Given the description of an element on the screen output the (x, y) to click on. 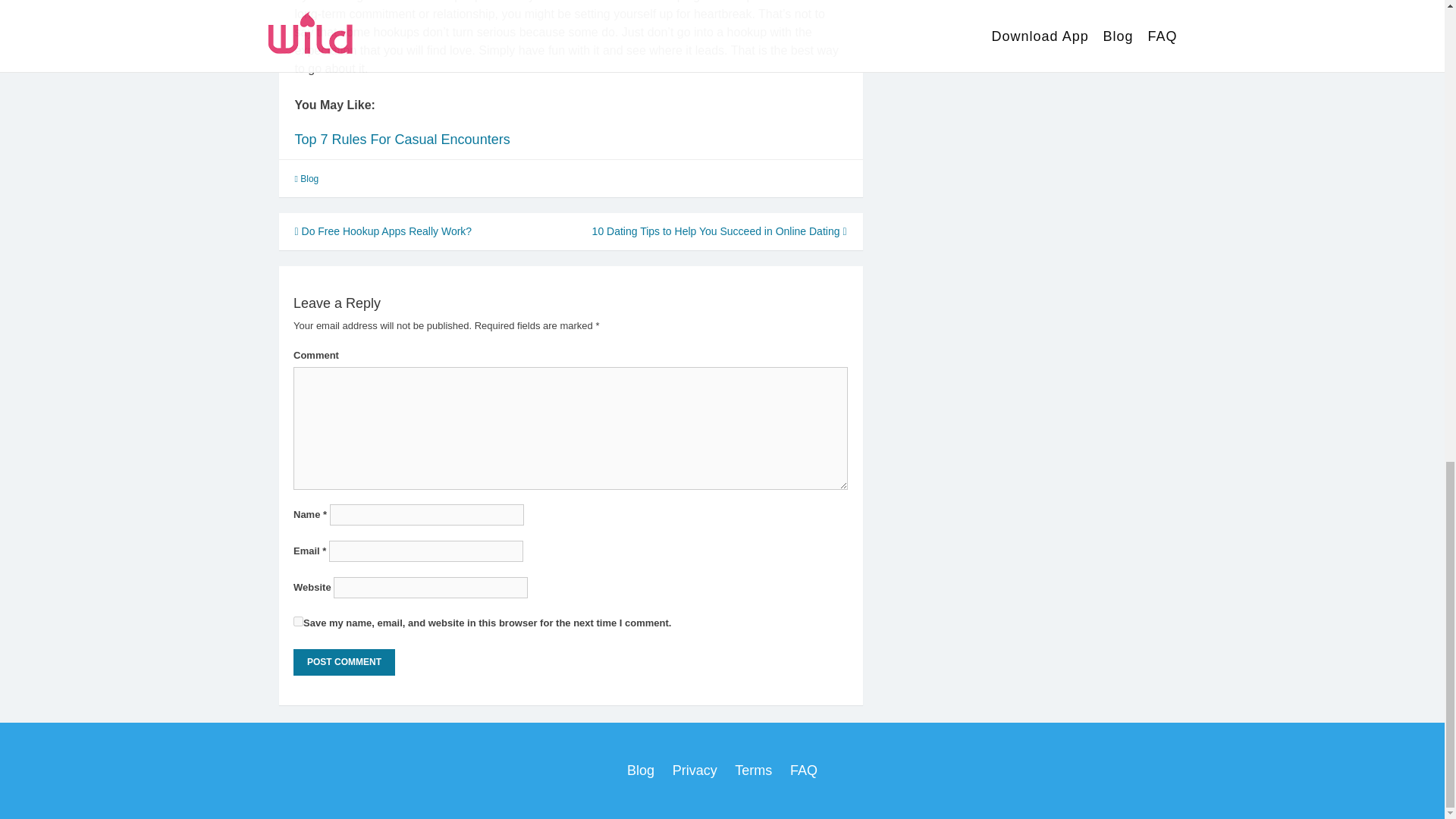
Do Free Hookup Apps Really Work? (382, 231)
Terms (753, 770)
Post Comment (344, 662)
10 Dating Tips to Help You Succeed in Online Dating (719, 231)
Blog (308, 178)
Top 7 Rules For Casual Encounters (401, 139)
FAQ (803, 770)
Blog (640, 770)
Post Comment (344, 662)
yes (298, 621)
